Given the description of an element on the screen output the (x, y) to click on. 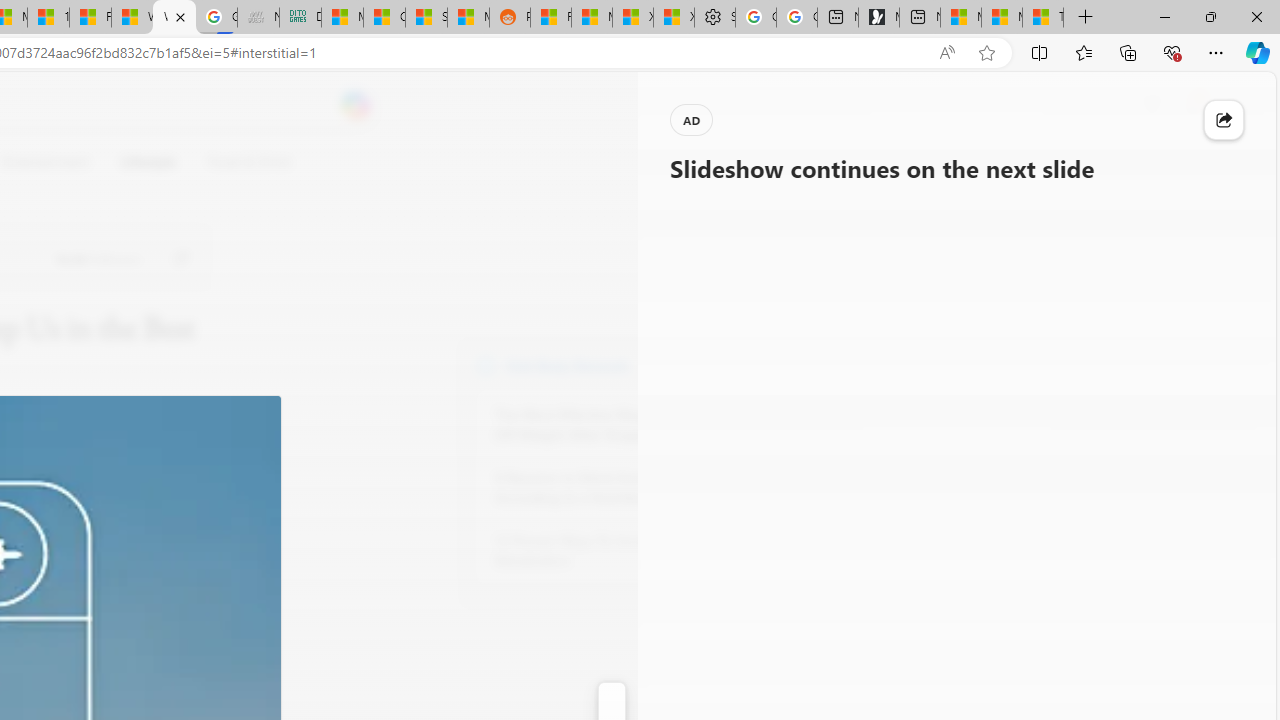
Fitness - MSN (90, 17)
Body Network (486, 364)
R******* | Trusted Community Engagement and Contributions (550, 17)
8 Reasons to Drink Kombucha, According to a Nutritionist (603, 488)
